Given the description of an element on the screen output the (x, y) to click on. 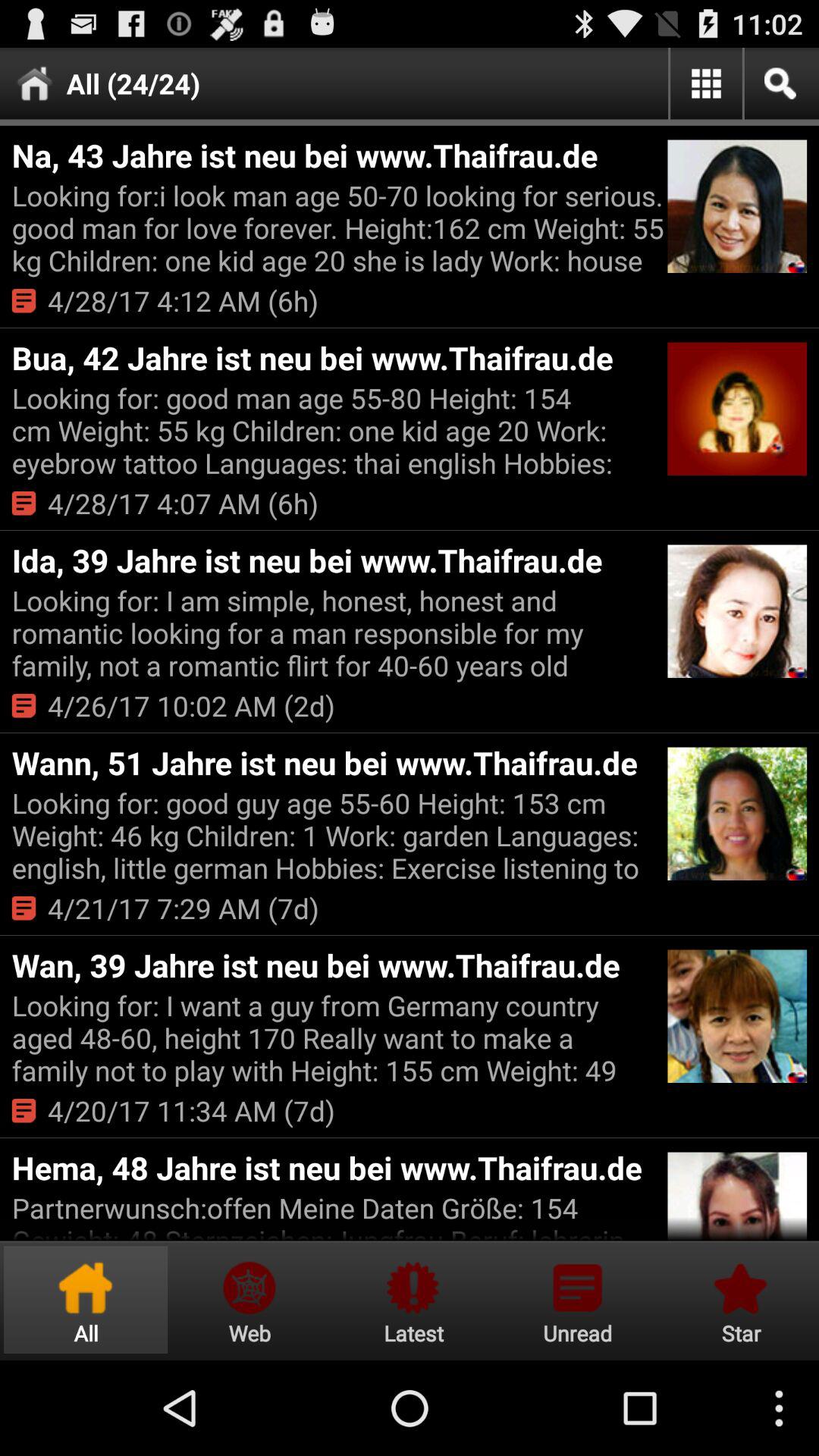
press icon below the hema 48 jahre icon (337, 1215)
